Given the description of an element on the screen output the (x, y) to click on. 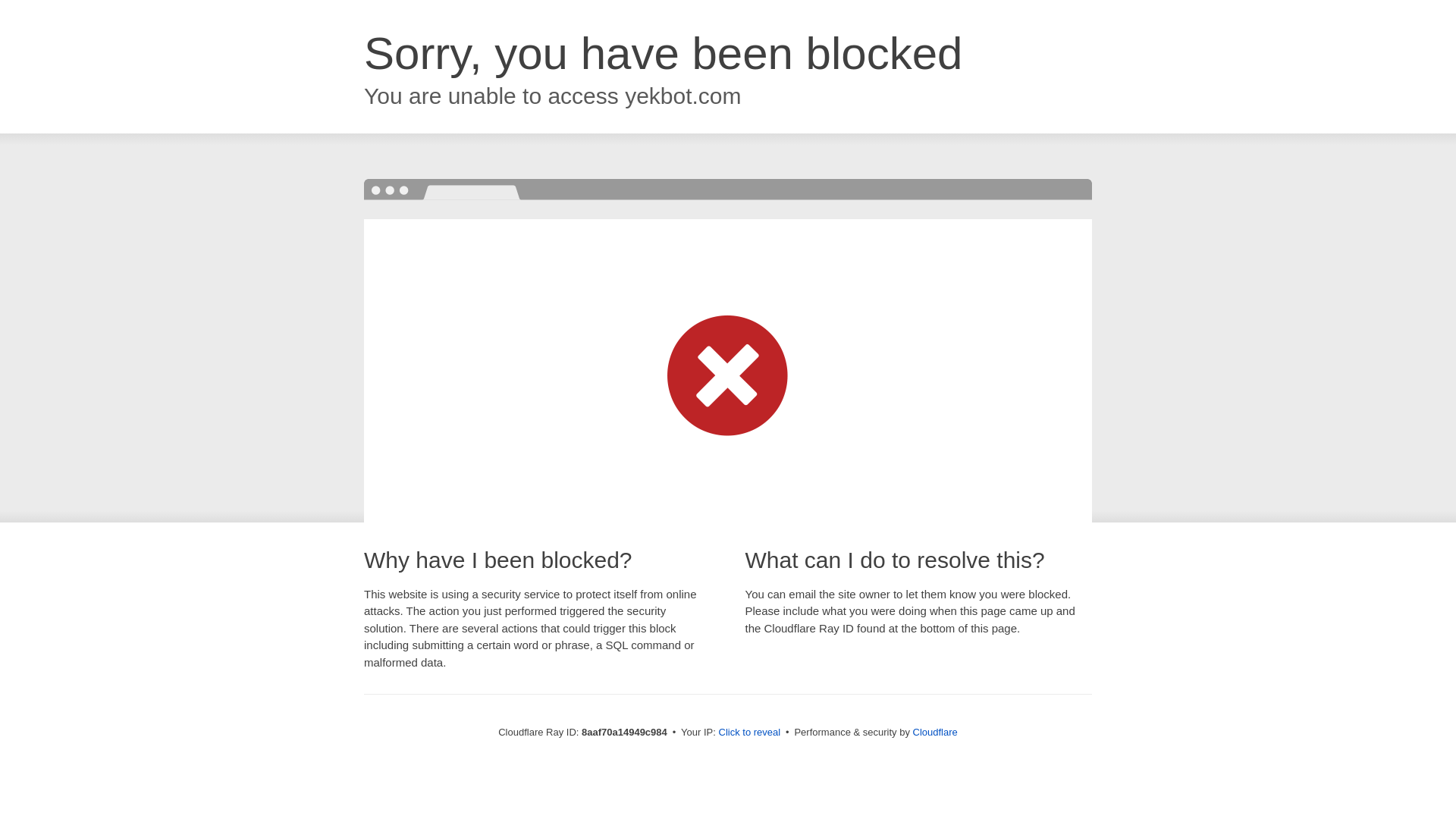
Cloudflare (935, 731)
Click to reveal (749, 732)
